Given the description of an element on the screen output the (x, y) to click on. 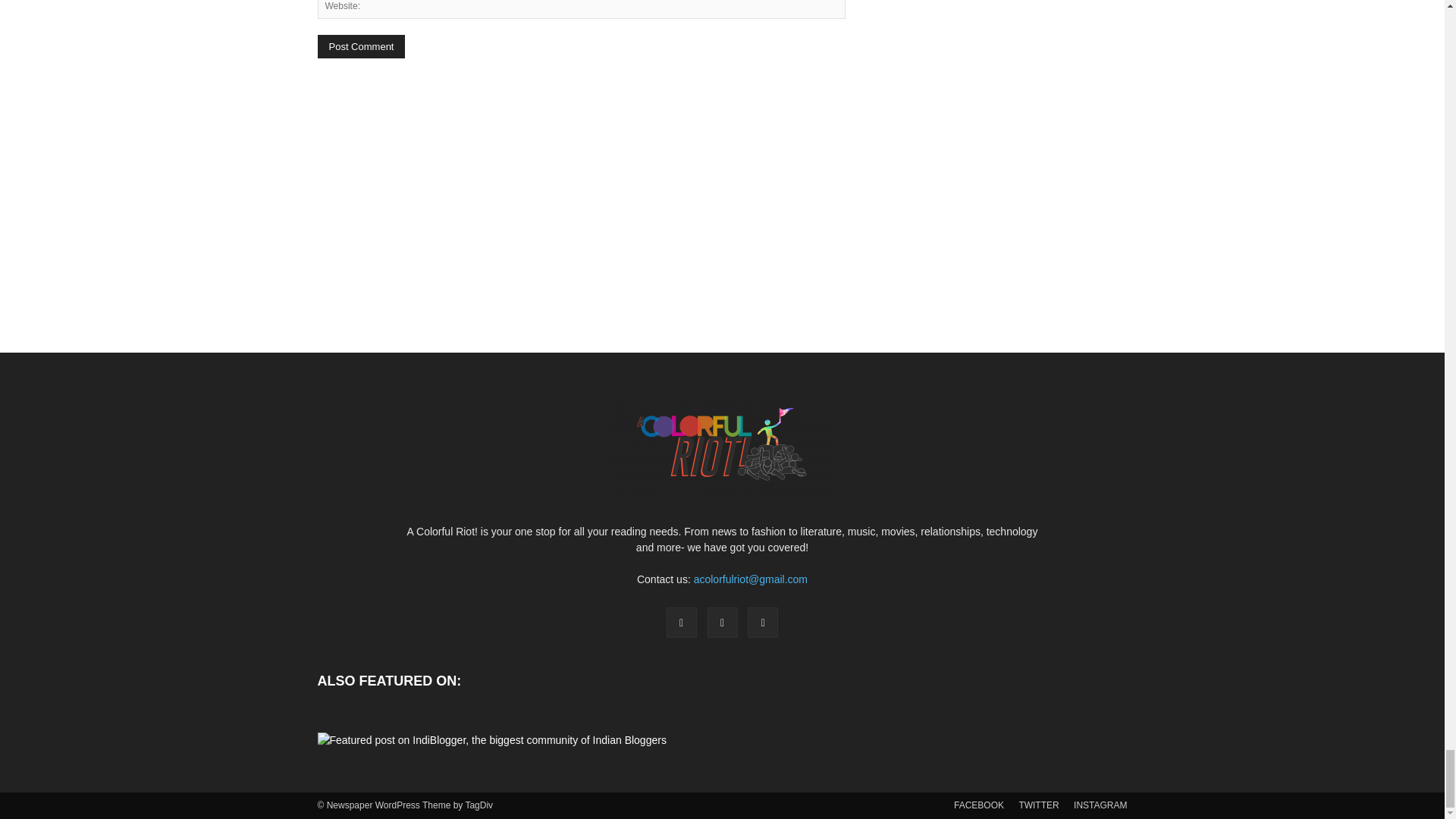
Post Comment (360, 46)
